Given the description of an element on the screen output the (x, y) to click on. 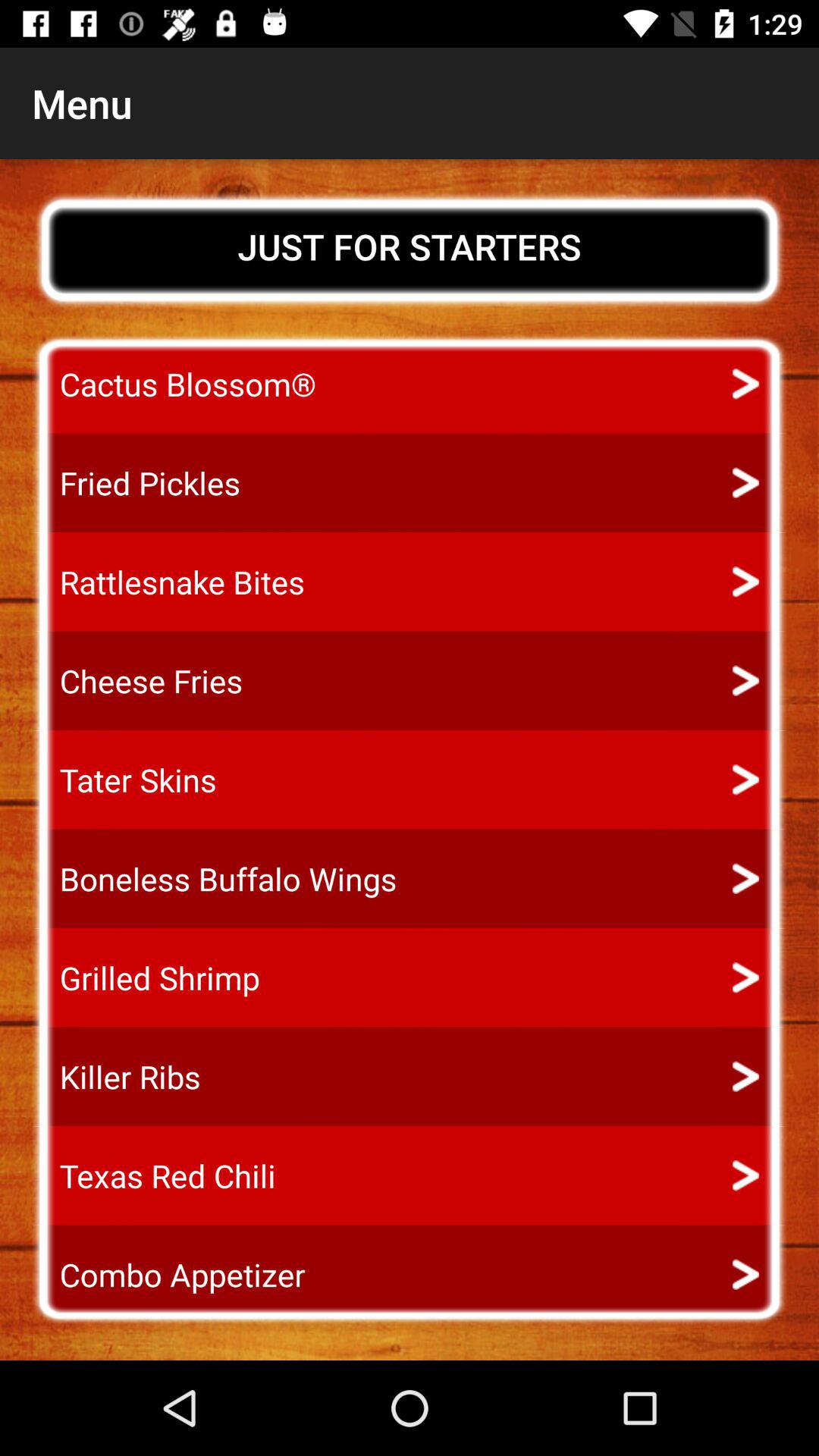
flip until tater skins (123, 779)
